Given the description of an element on the screen output the (x, y) to click on. 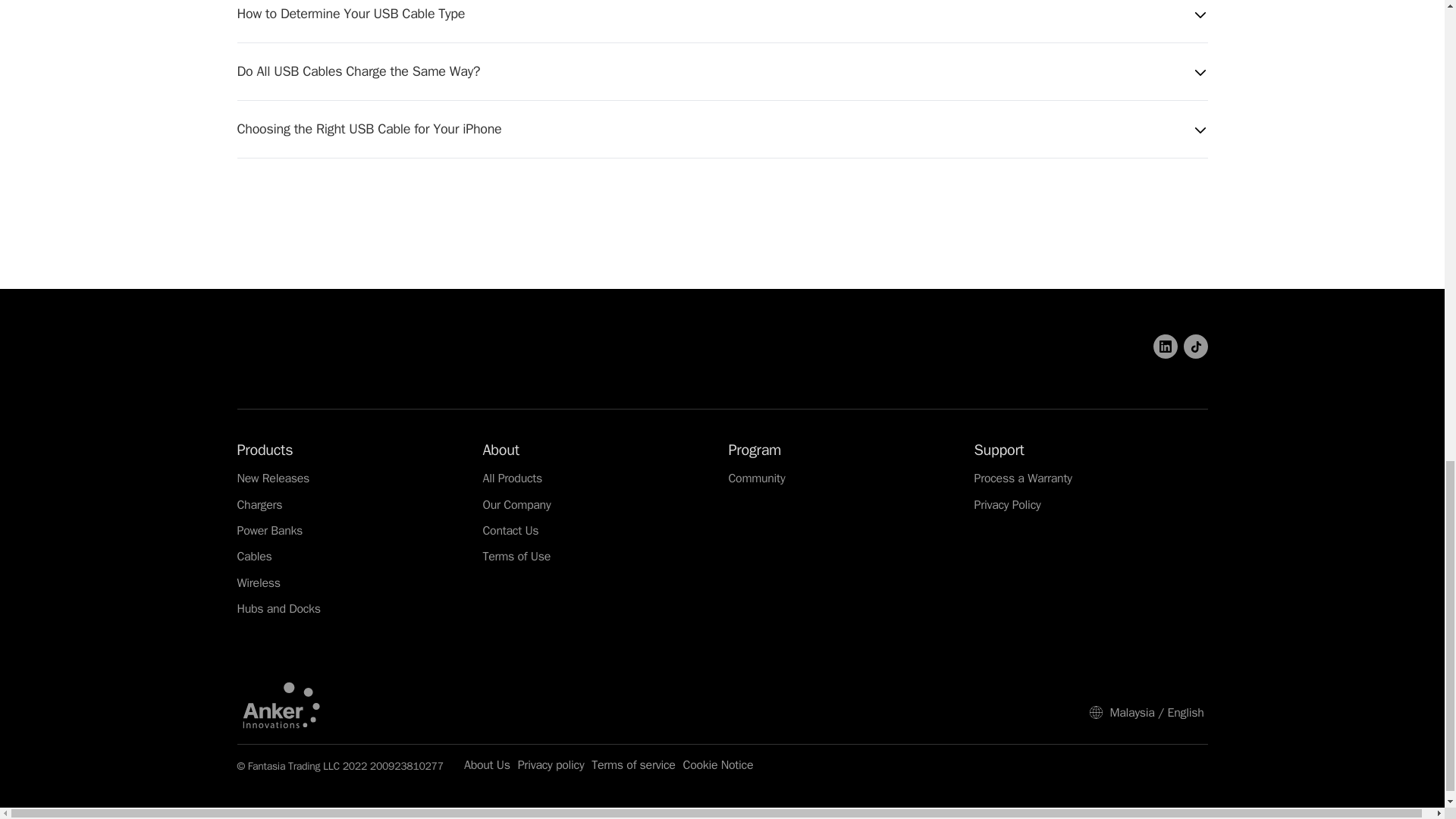
Cables (252, 556)
Power Banks (268, 530)
Chargers (258, 504)
New Releases (271, 478)
